Given the description of an element on the screen output the (x, y) to click on. 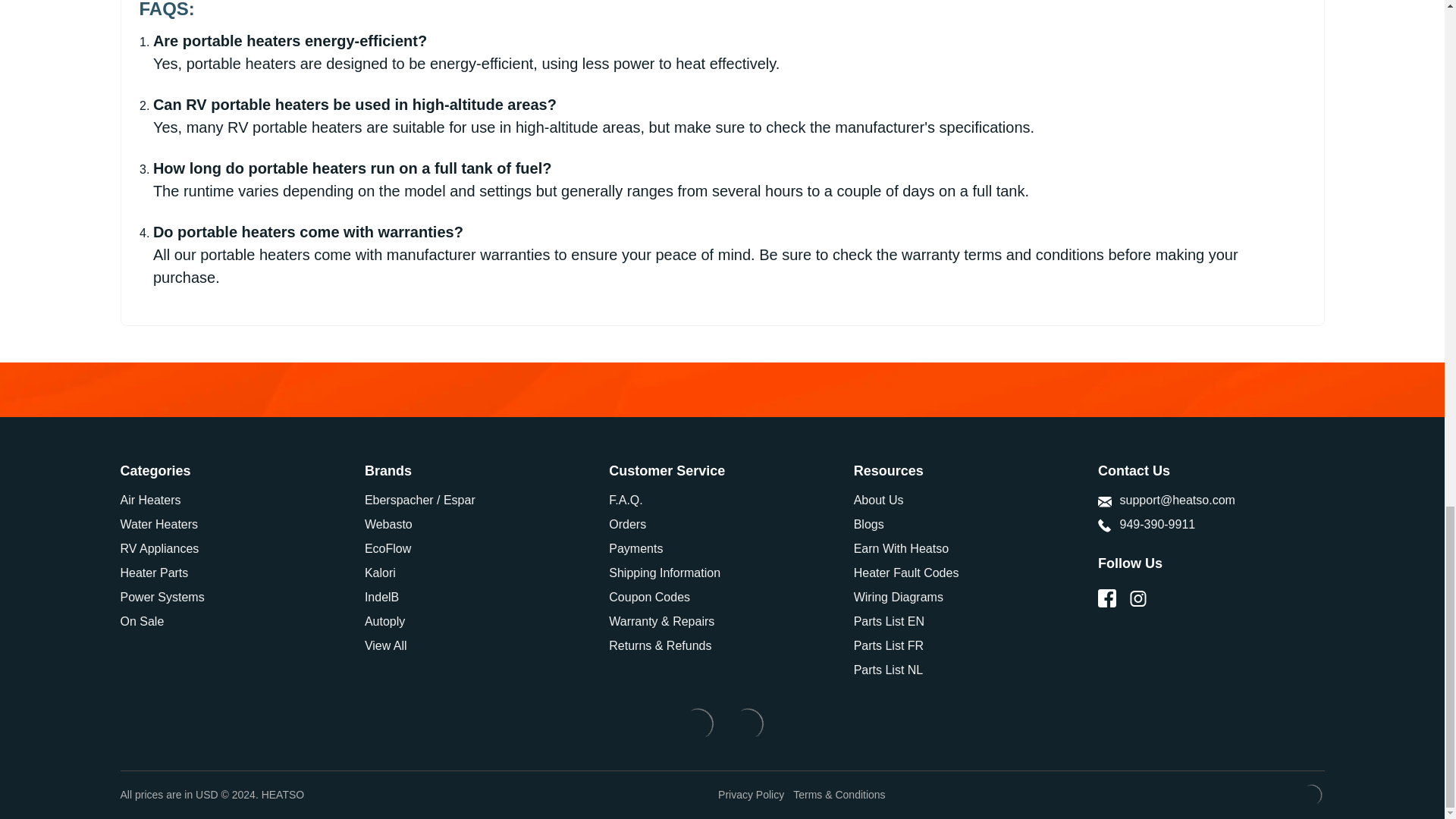
Facebook (1106, 597)
Instagram (1138, 597)
